Given the description of an element on the screen output the (x, y) to click on. 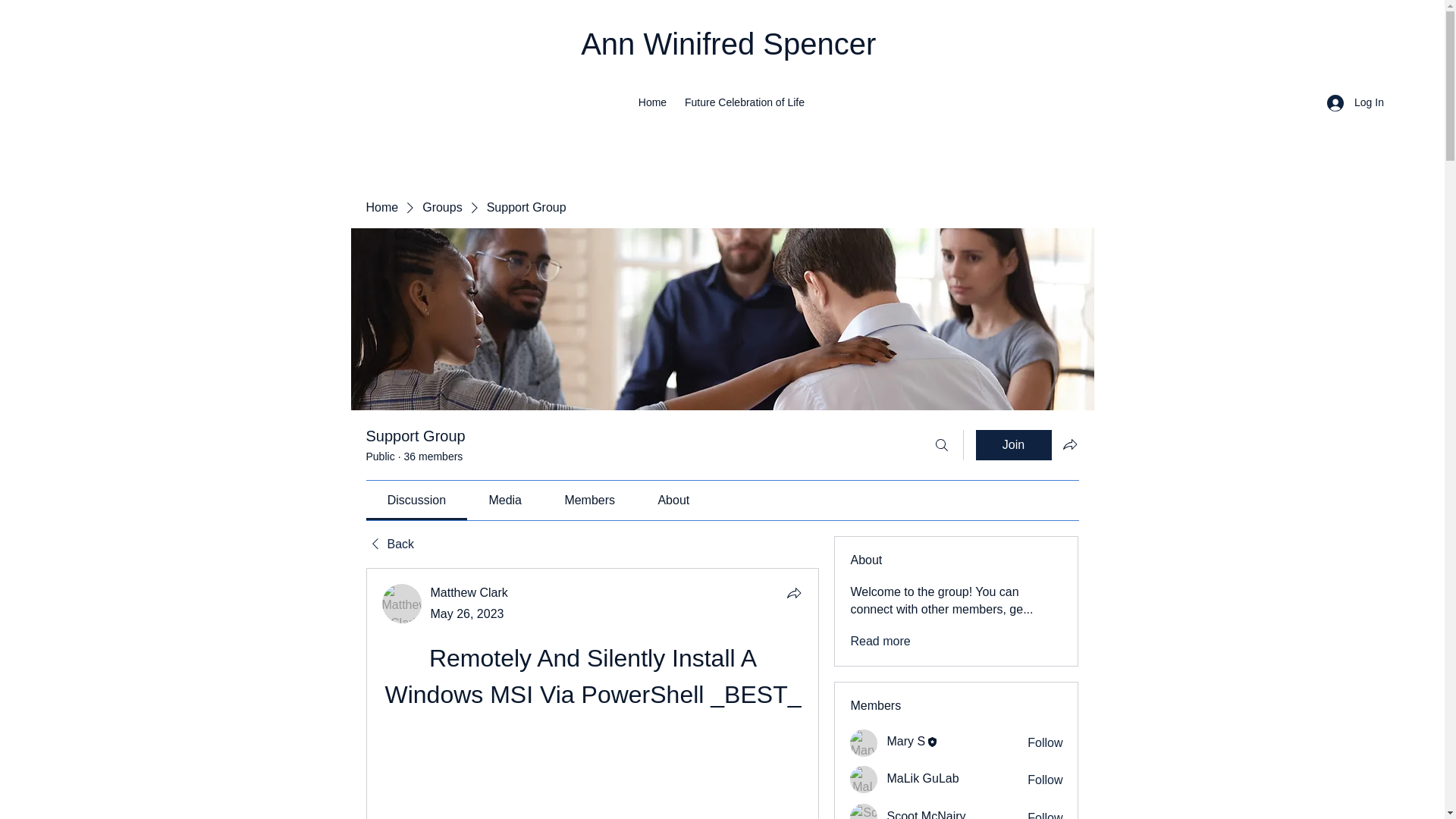
MaLik GuLab (922, 778)
MaLik GuLab (863, 779)
Groups (441, 207)
Scoot McNairy (925, 814)
Back (389, 544)
Follow (1044, 742)
Matthew Clark (469, 592)
Log In (1350, 102)
May 26, 2023 (466, 613)
Read more (880, 641)
